Given the description of an element on the screen output the (x, y) to click on. 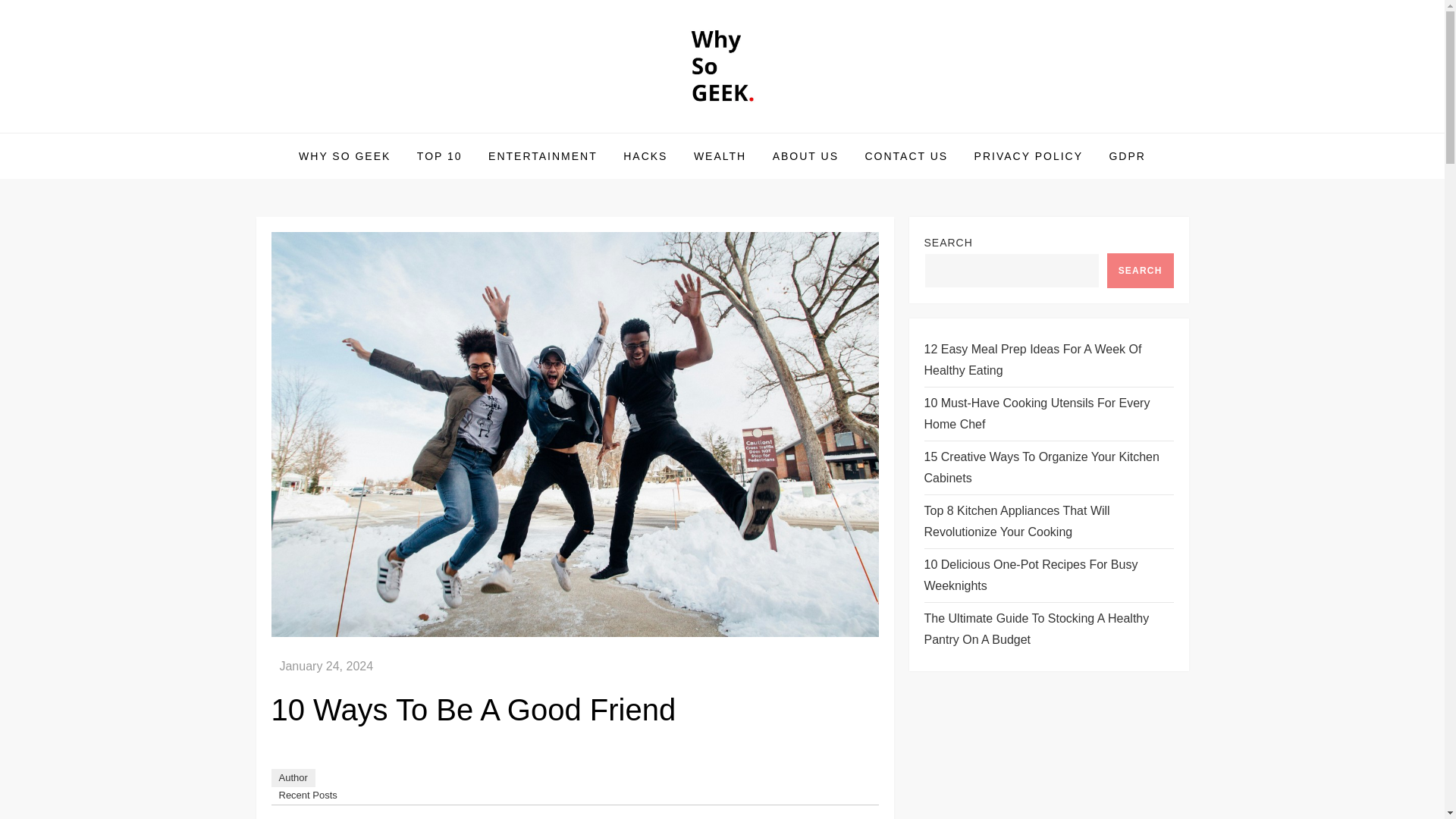
ENTERTAINMENT (542, 156)
HACKS (644, 156)
10 Must-Have Cooking Utensils For Every Home Chef (1048, 413)
Author (292, 778)
Recent Posts (307, 795)
WhySoGeek (341, 131)
GDPR (1126, 156)
15 Creative Ways To Organize Your Kitchen Cabinets (1048, 467)
WEALTH (719, 156)
PRIVACY POLICY (1028, 156)
The Ultimate Guide To Stocking A Healthy Pantry On A Budget (1048, 629)
SEARCH (1139, 270)
TOP 10 (440, 156)
WHY SO GEEK (343, 156)
